Given the description of an element on the screen output the (x, y) to click on. 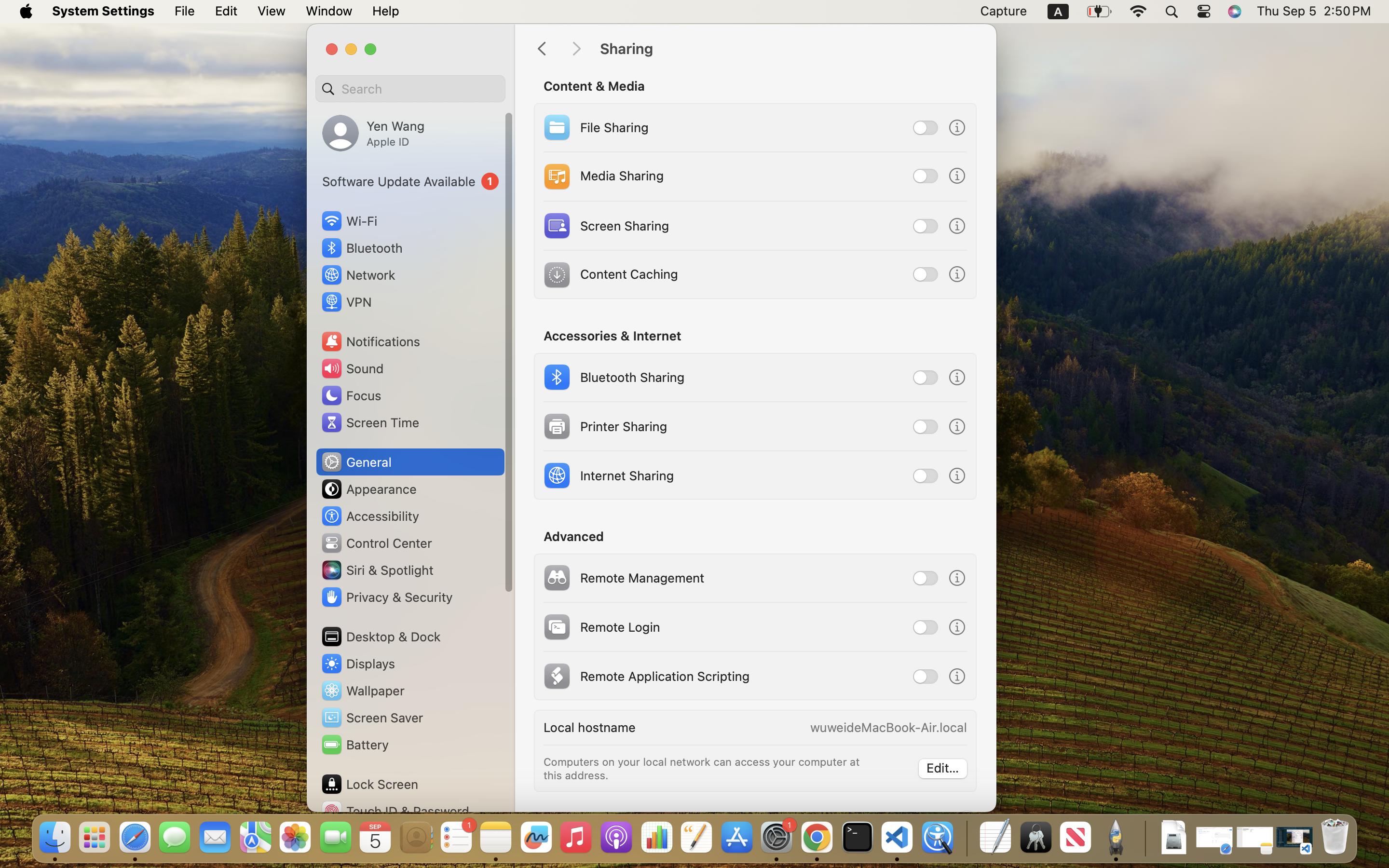
Bluetooth Element type: AXStaticText (361, 247)
Accessibility Element type: AXStaticText (369, 515)
Screen Saver Element type: AXStaticText (371, 717)
Wi‑Fi Element type: AXStaticText (348, 220)
Internet Sharing Element type: AXStaticText (607, 475)
